Given the description of an element on the screen output the (x, y) to click on. 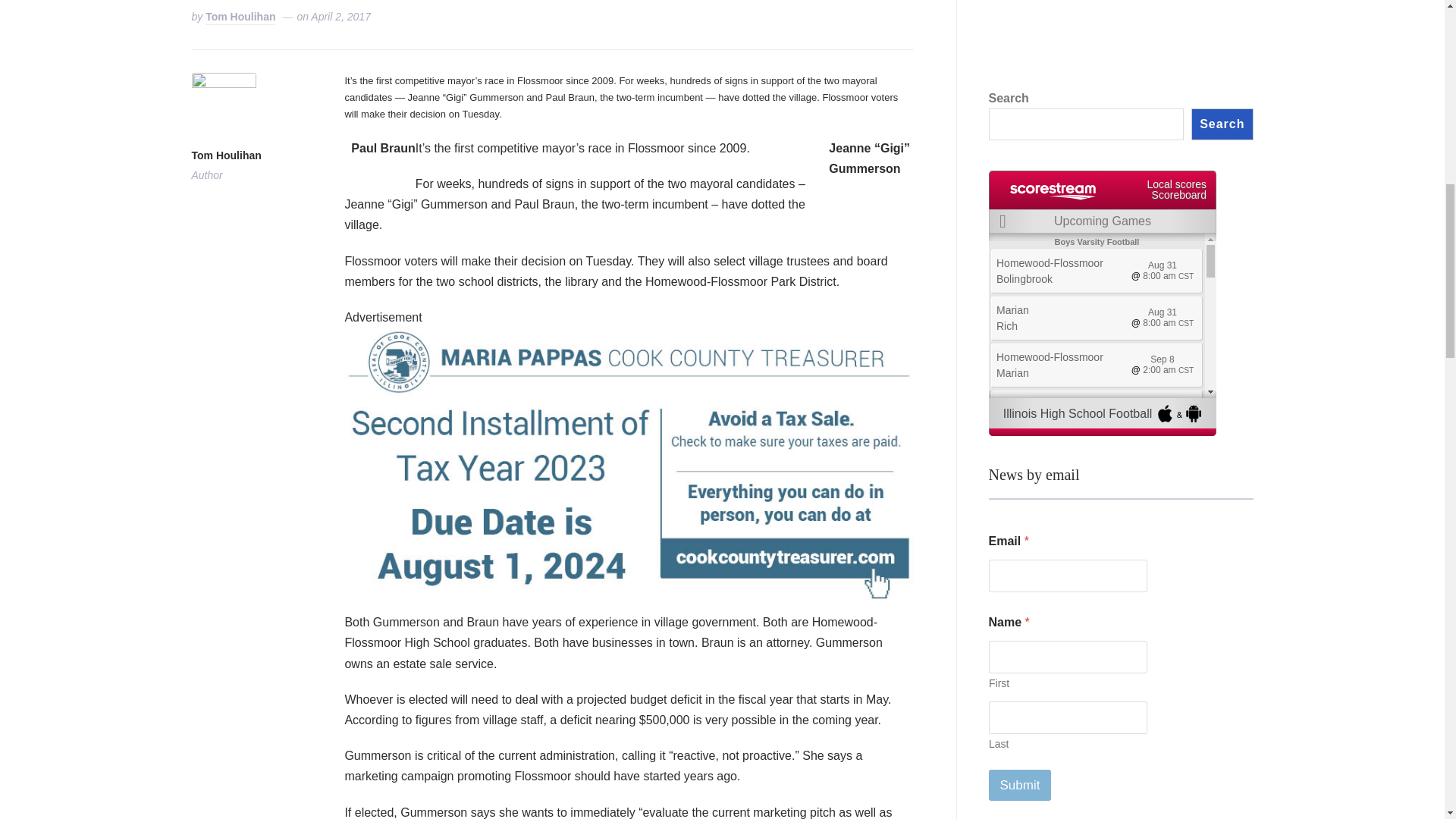
Posts by Tom Houlihan (225, 156)
Posts by Tom Houlihan (240, 17)
